Given the description of an element on the screen output the (x, y) to click on. 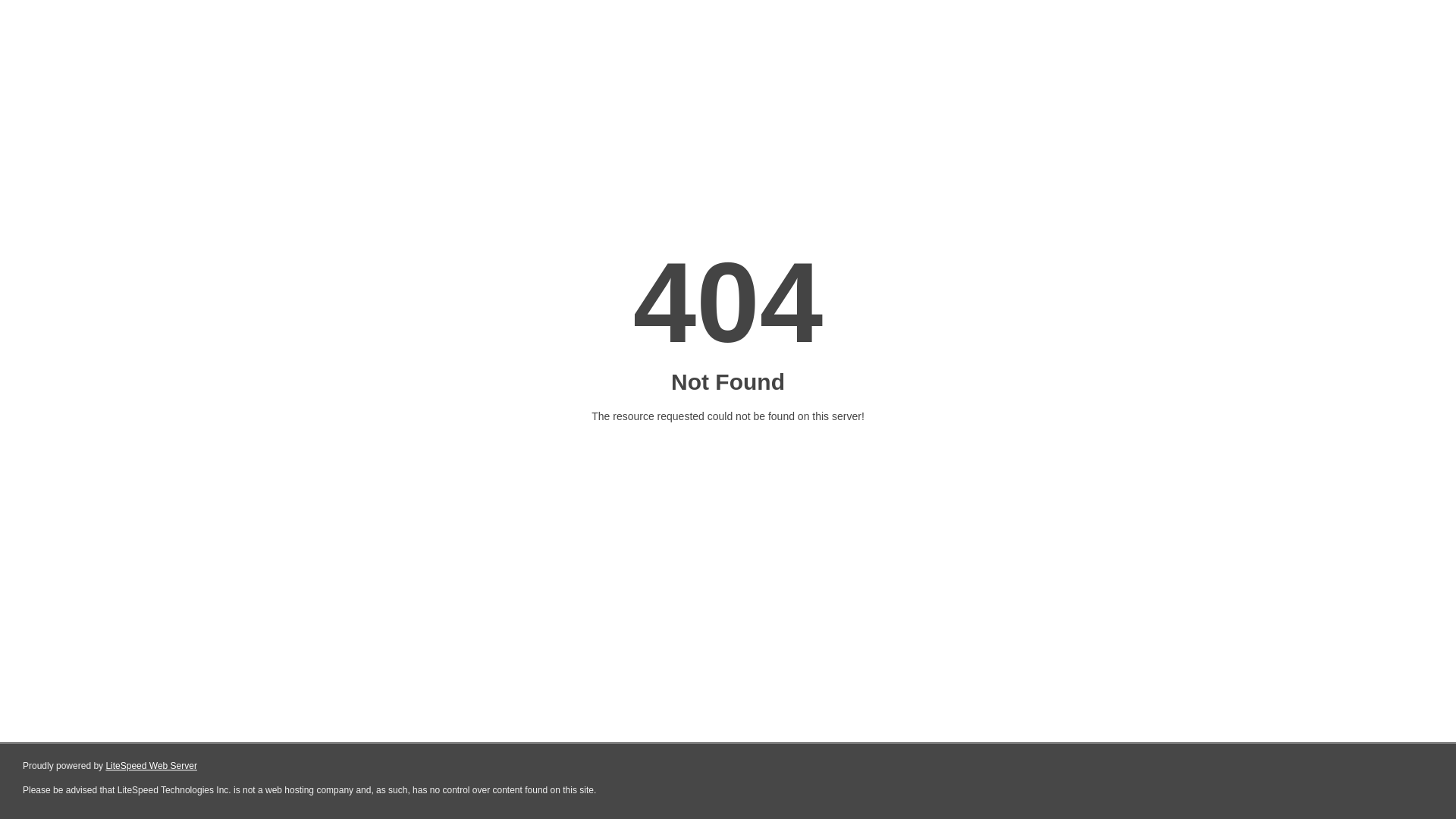
LiteSpeed Web Server Element type: text (151, 765)
